Given the description of an element on the screen output the (x, y) to click on. 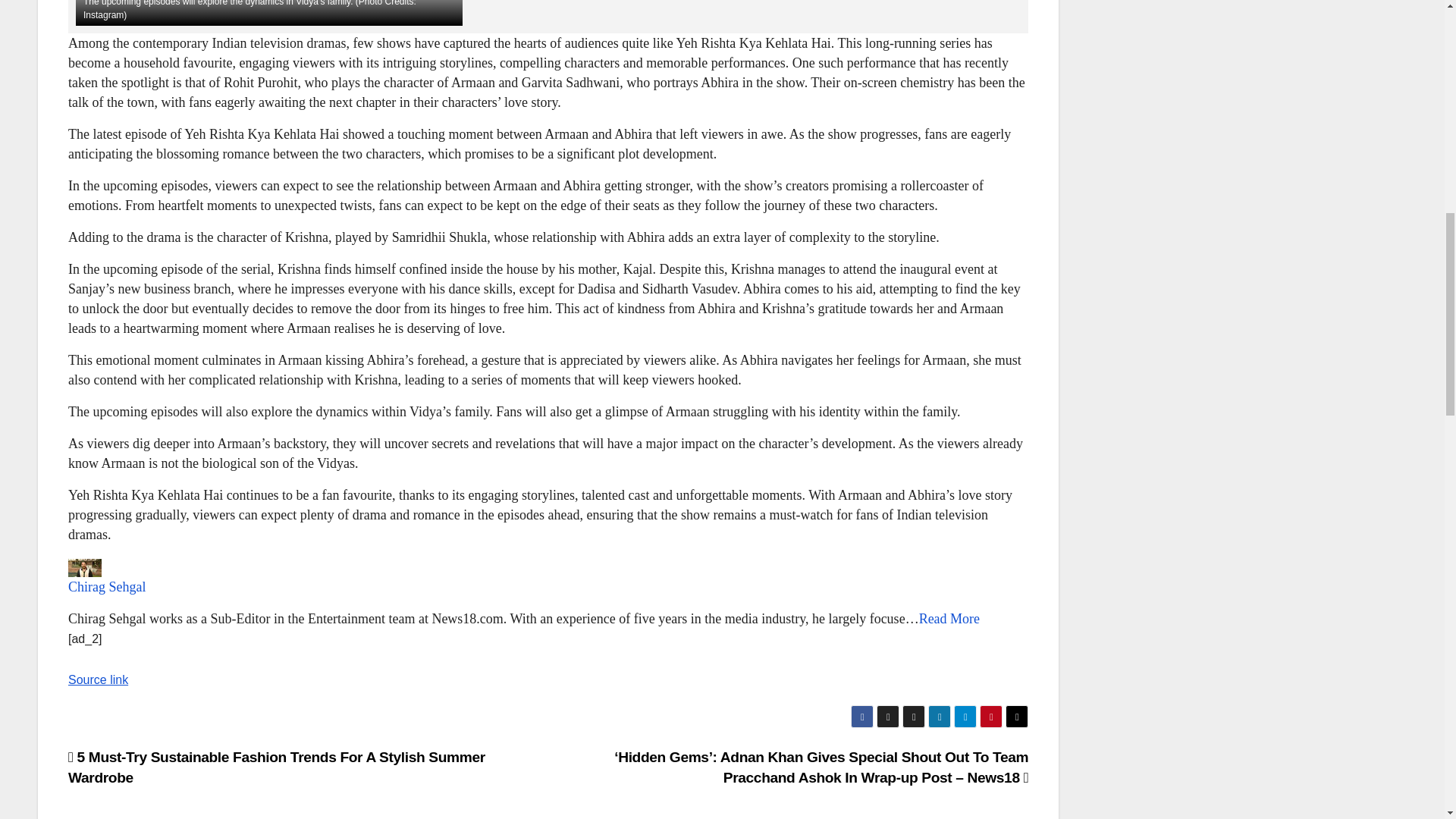
Chirag Sehgal (106, 586)
Read More (948, 618)
Source link (98, 679)
